Given the description of an element on the screen output the (x, y) to click on. 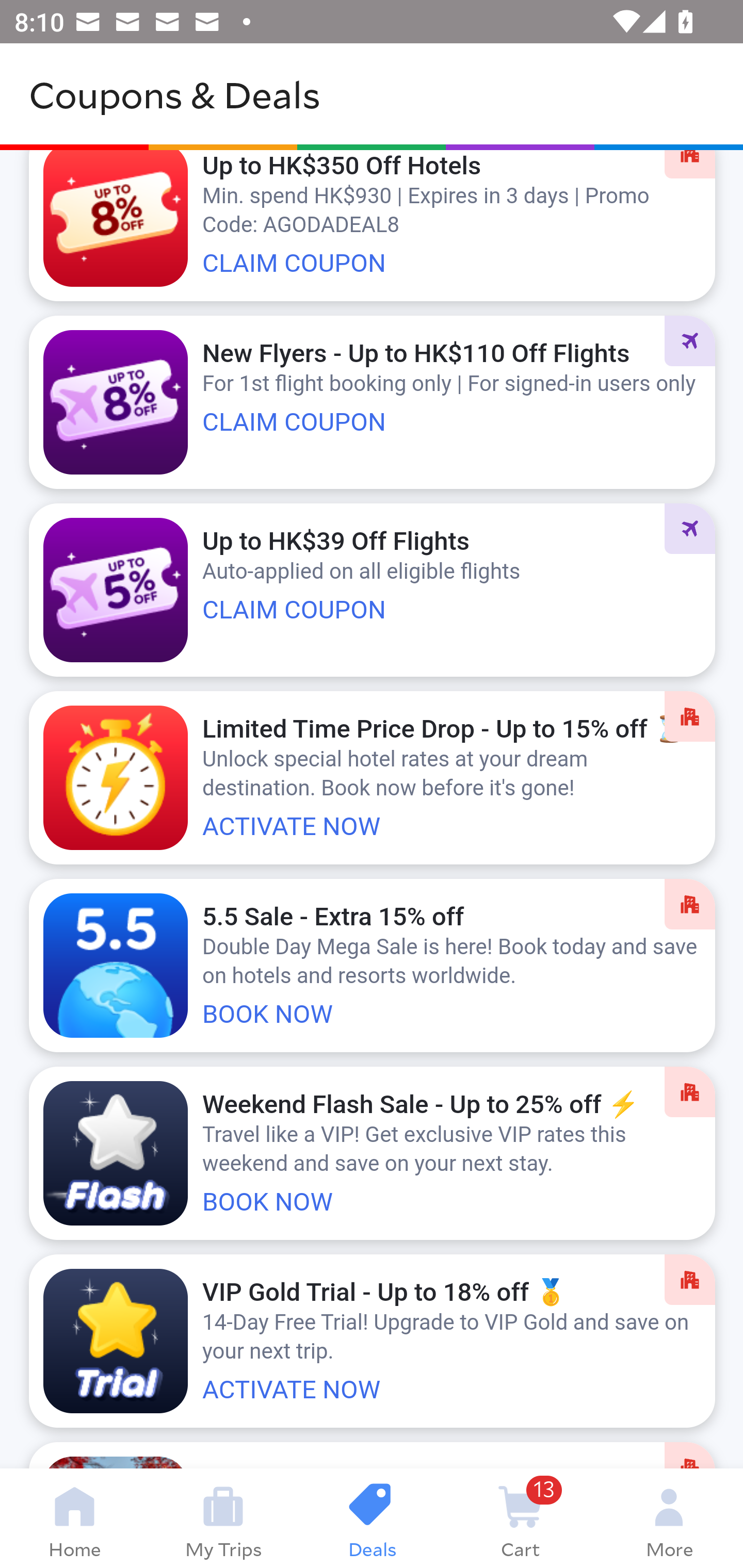
Home (74, 1518)
My Trips (222, 1518)
Deals (371, 1518)
13 Cart (519, 1518)
More (668, 1518)
